Given the description of an element on the screen output the (x, y) to click on. 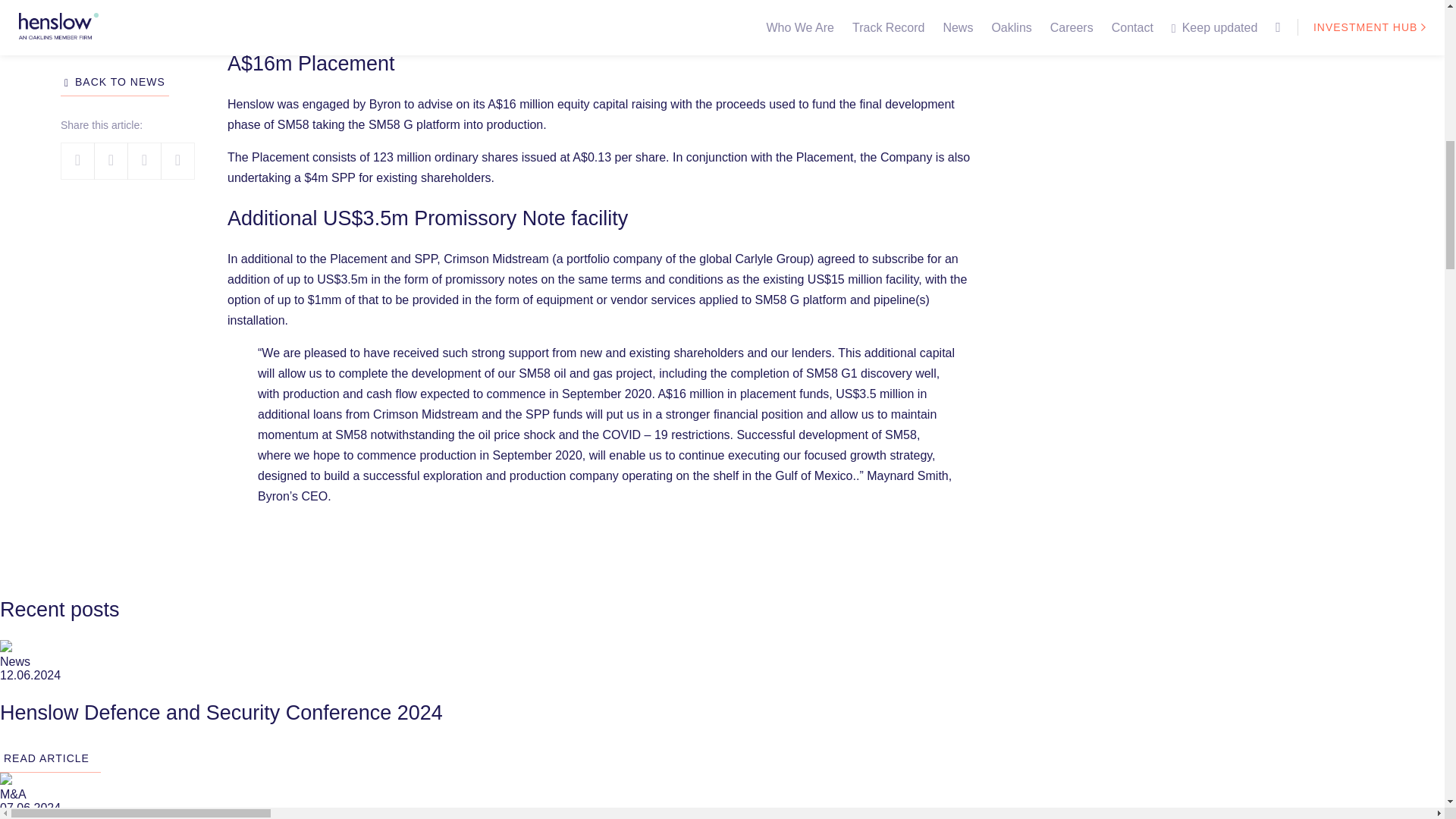
News (15, 661)
READ ARTICLE (50, 758)
Henslow Defence and Security Conference 2024 (722, 732)
